Given the description of an element on the screen output the (x, y) to click on. 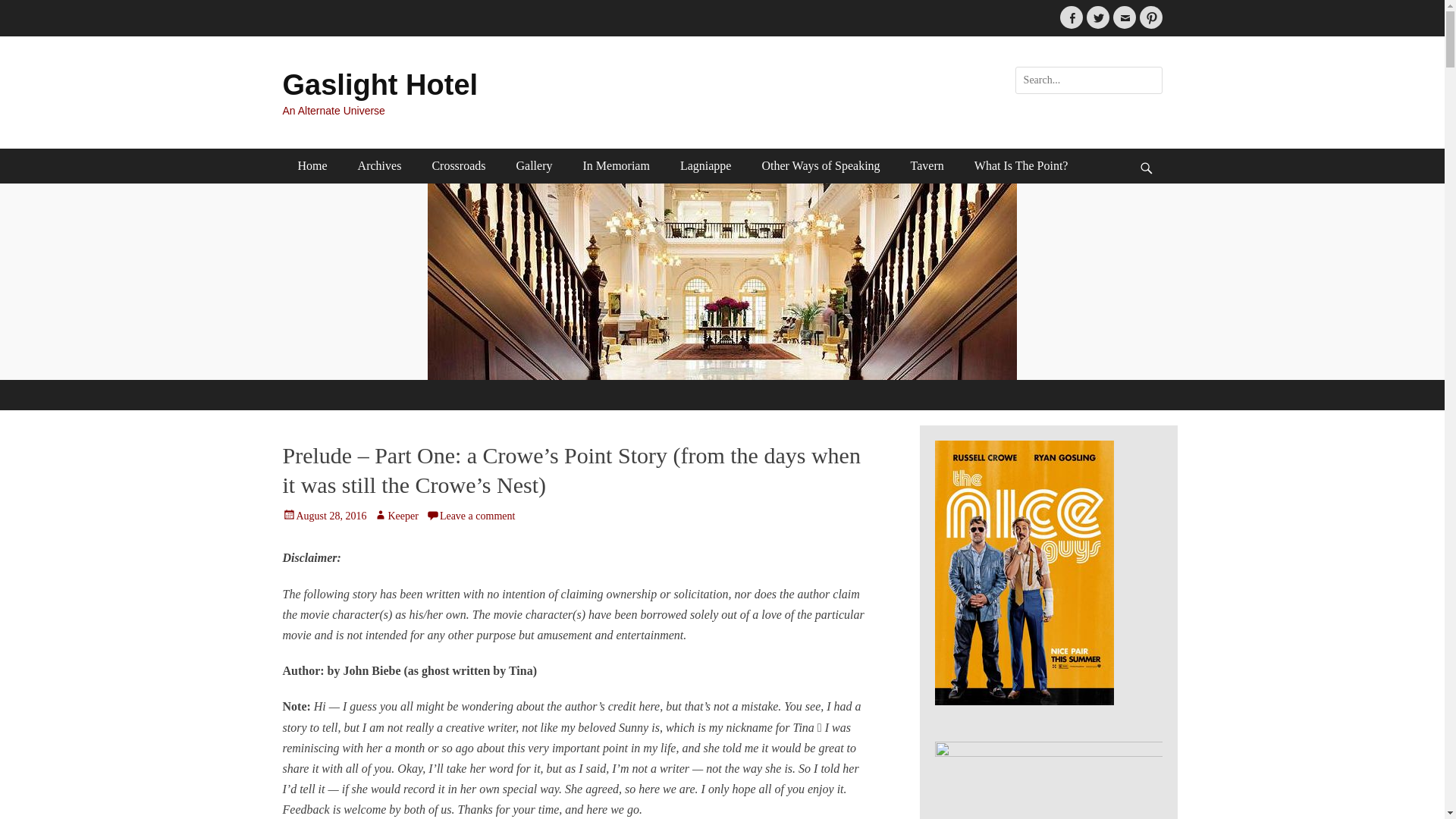
Facebook (1071, 16)
Gaslight Hotel (379, 84)
Pinterest (1149, 16)
Email (1124, 16)
Search for: (1087, 80)
Search (22, 9)
Home (312, 165)
Twitter (1097, 16)
Pinterest (1149, 16)
Facebook (1071, 16)
Archives (379, 165)
Twitter (1097, 16)
Email (1124, 16)
